Given the description of an element on the screen output the (x, y) to click on. 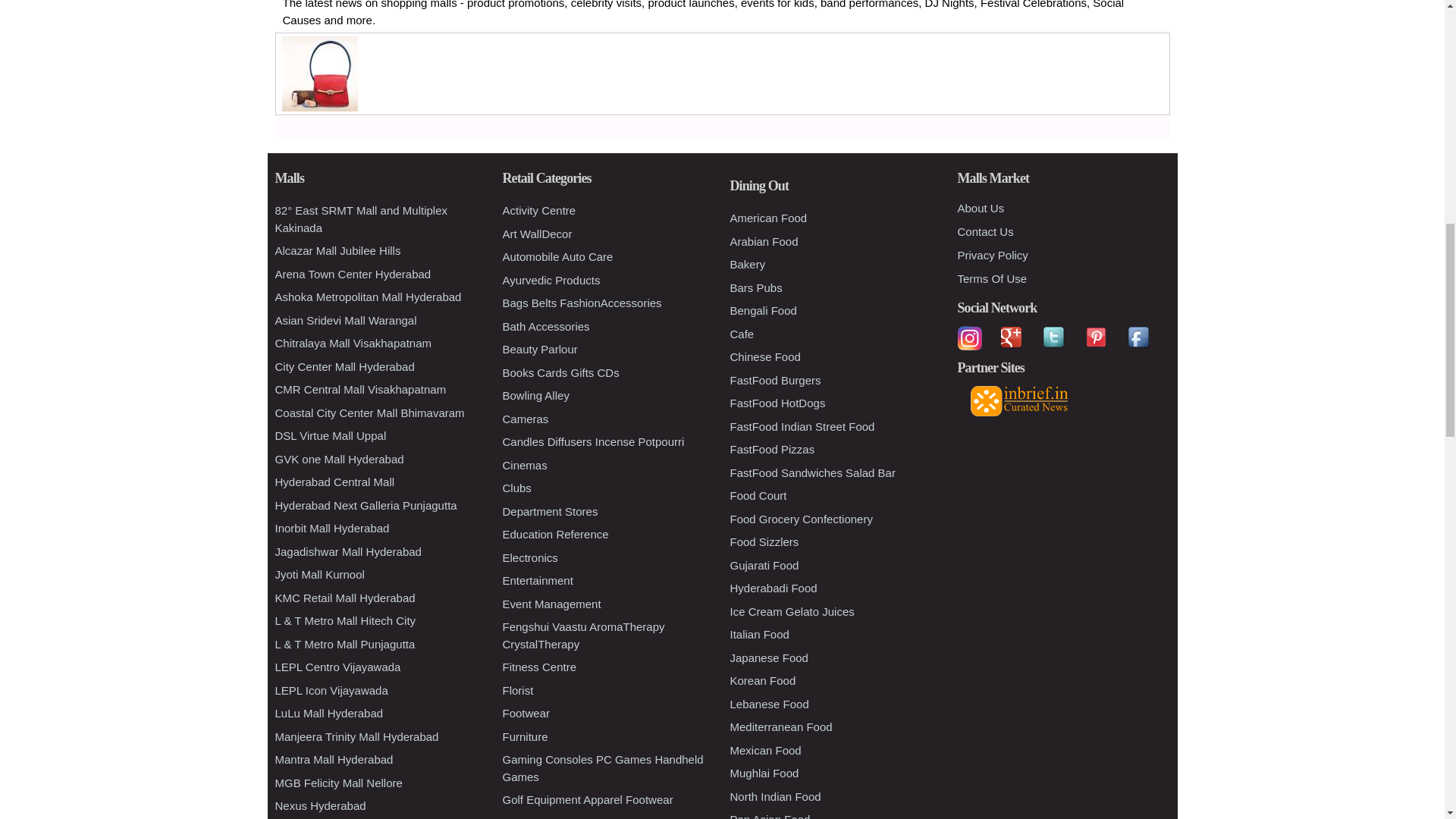
Arena Town Center Hyderabad (352, 273)
Alcazar Mall Jubilee Hills (337, 250)
Ashoka Metropolitan Mall Hyderabad (368, 296)
